Given the description of an element on the screen output the (x, y) to click on. 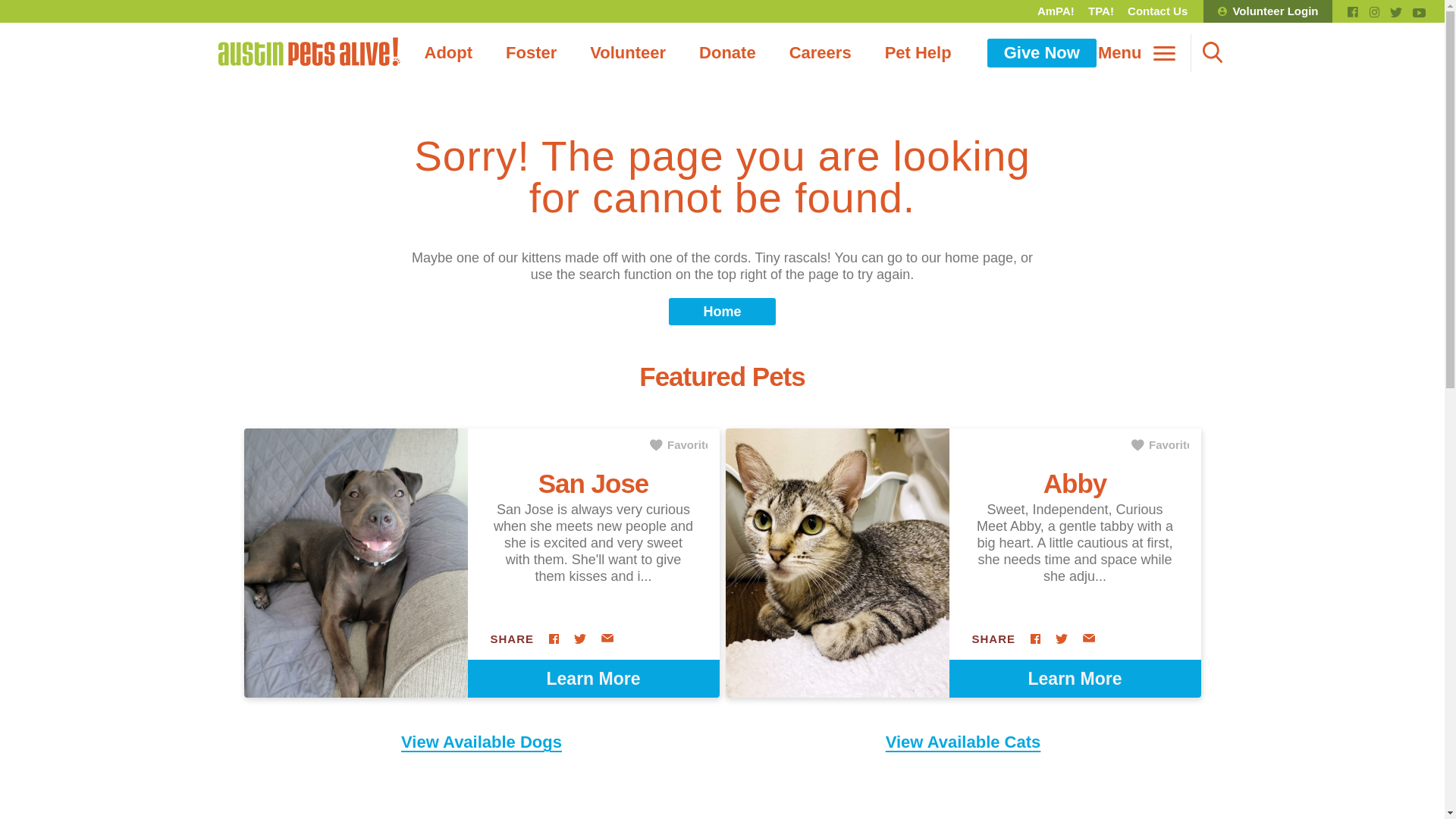
Favorite (1160, 444)
Adopt (448, 52)
Careers (820, 52)
Foster (531, 52)
Pet Help (917, 52)
Favorite (677, 444)
Volunteer Login (1268, 11)
Contact Us (1157, 11)
Volunteer (627, 52)
Donate (727, 52)
AmPA! (1056, 11)
TPA! (1101, 11)
